Given the description of an element on the screen output the (x, y) to click on. 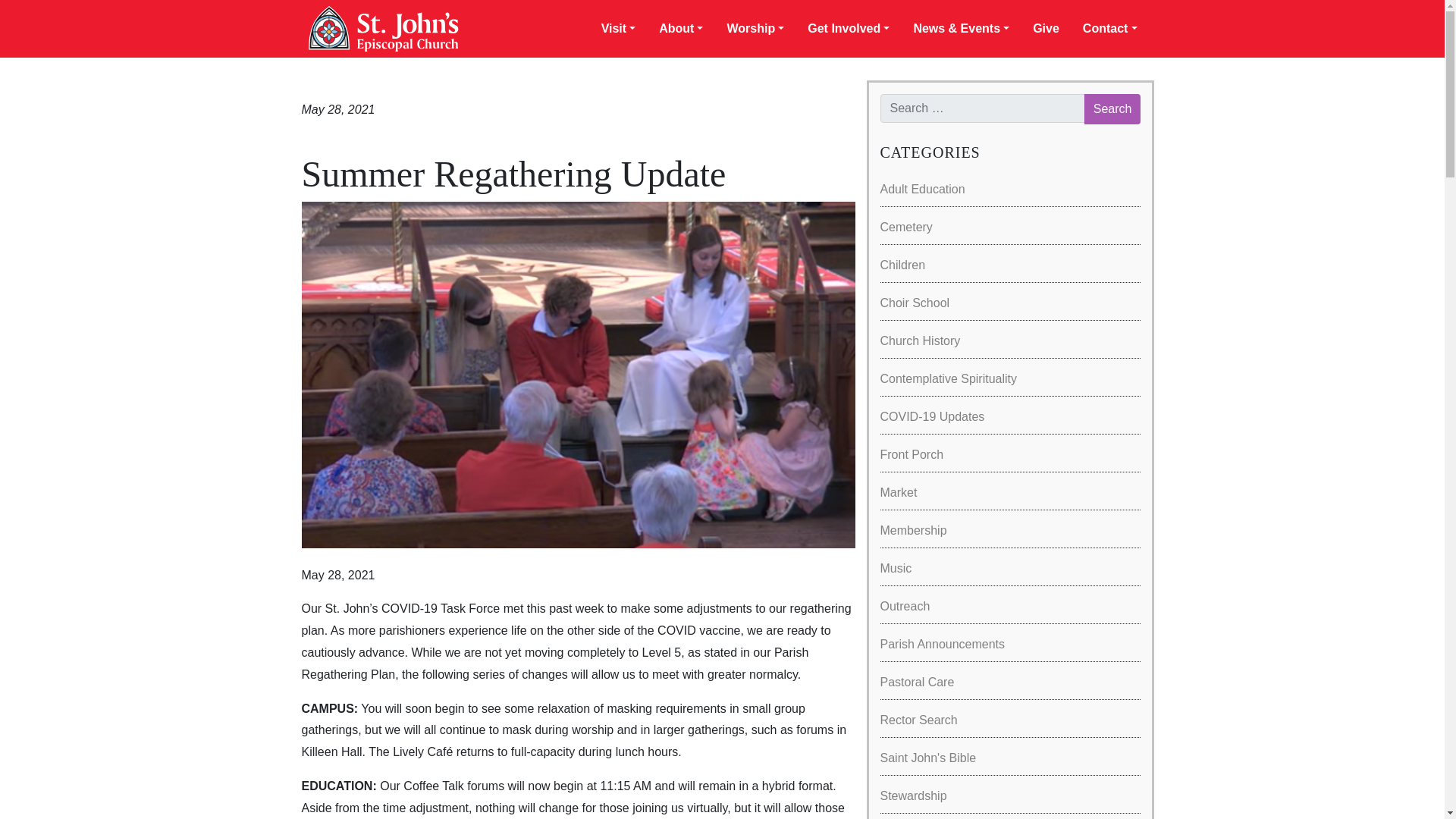
About (680, 28)
Worship (755, 28)
Visit (618, 28)
Worship (755, 28)
Search (1112, 109)
Contact (1109, 28)
About (680, 28)
Visit (618, 28)
Get Involved (848, 28)
Give (1045, 28)
